Given the description of an element on the screen output the (x, y) to click on. 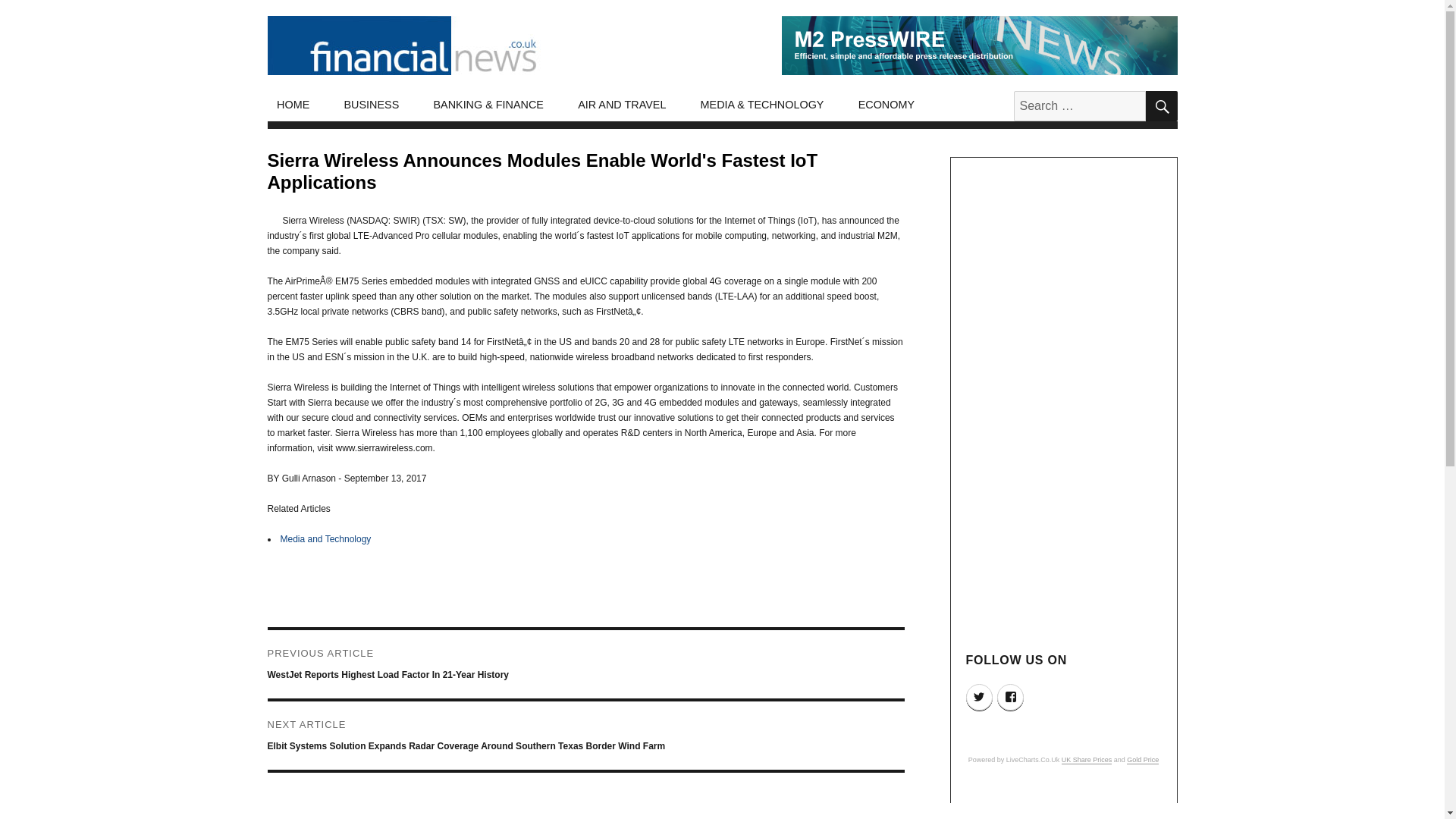
BUSINESS (371, 104)
HOME (292, 104)
AIR AND TRAVEL (622, 104)
FACEBOOK (1010, 696)
Advertisement (1065, 804)
Media and Technology (326, 538)
UK Share Prices (1086, 759)
ECONOMY (886, 104)
TWITTER (979, 696)
Advertisement (1065, 401)
Gold Price (1142, 759)
SEARCH (1160, 105)
